Given the description of an element on the screen output the (x, y) to click on. 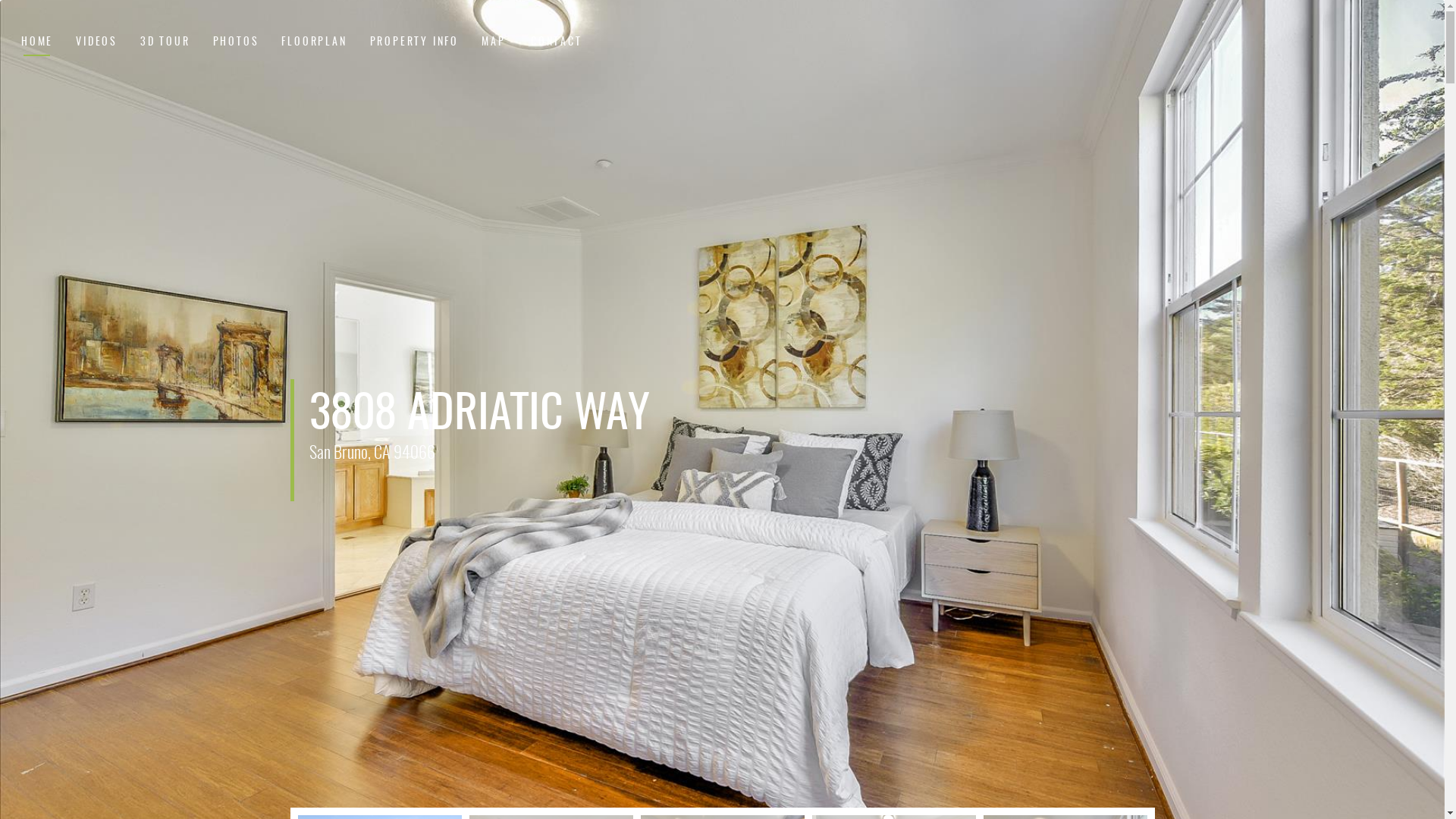
FLOORPLAN Element type: text (313, 42)
PROPERTY INFO Element type: text (414, 42)
3D TOUR Element type: text (165, 42)
PHOTOS Element type: text (236, 42)
MAP Element type: text (494, 42)
VIDEOS Element type: text (96, 42)
CONTACT Element type: text (556, 42)
HOME Element type: text (37, 42)
